Given the description of an element on the screen output the (x, y) to click on. 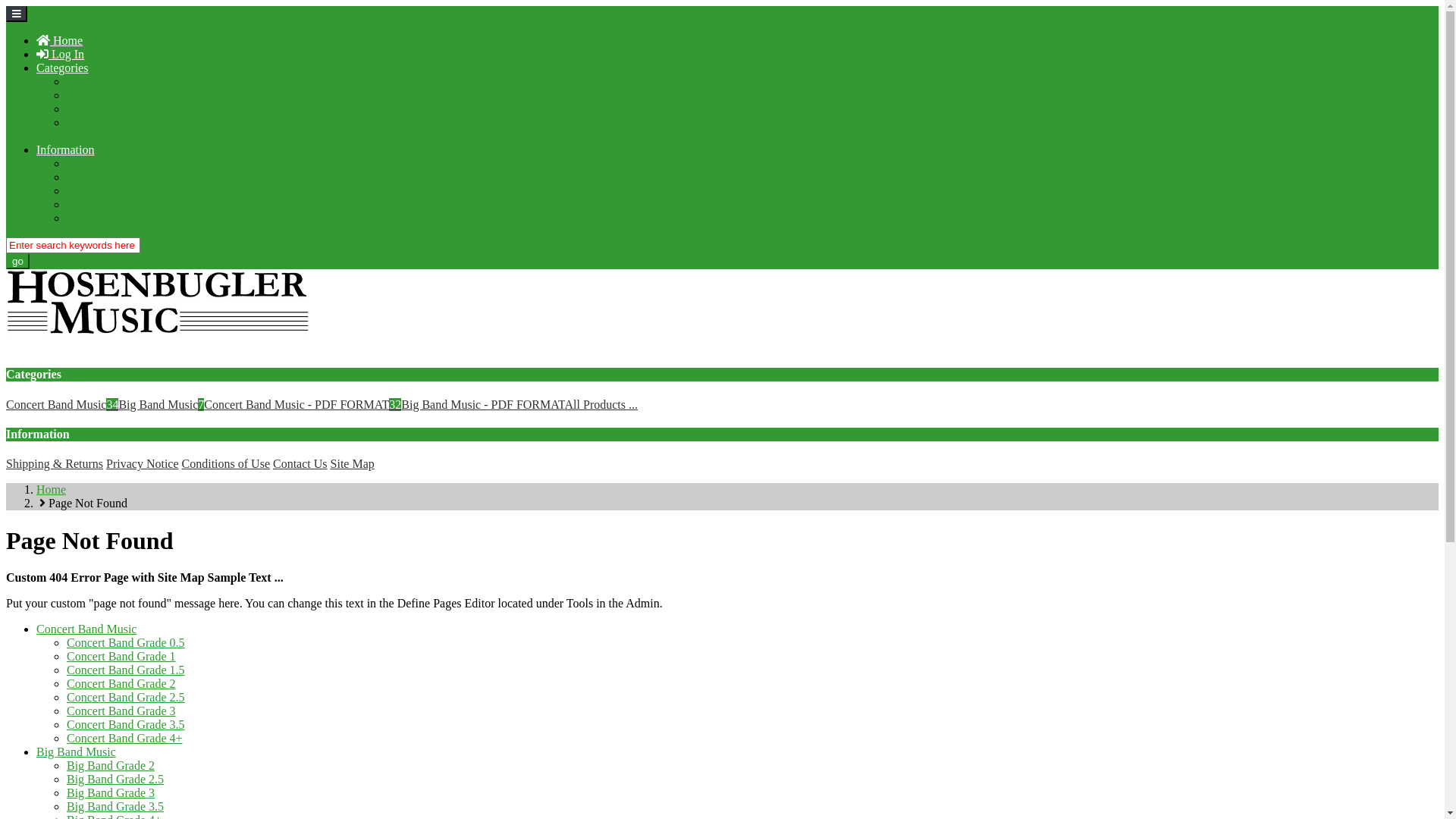
Privacy Notice Element type: text (102, 176)
Concert Band Music34 Element type: text (62, 404)
Conditions of Use Element type: text (225, 463)
Big Band Music - PDF FORMAT Element type: text (148, 122)
Privacy Notice Element type: text (142, 463)
Big Band Grade 3 Element type: text (110, 792)
Big Band Grade 2 Element type: text (110, 765)
Big Band Music Element type: text (106, 94)
Contact Us Element type: text (93, 203)
Home Element type: text (59, 40)
Shipping & Returns Element type: text (54, 463)
Site Map Element type: text (88, 217)
Shipping & Returns Element type: text (114, 162)
Big Band Music - PDF FORMAT Element type: text (482, 404)
Concert Band Grade 1 Element type: text (120, 655)
Concert Band Music Element type: text (86, 628)
Concert Band Grade 1.5 Element type: text (125, 669)
Concert Band Grade 3 Element type: text (120, 710)
Contact Us Element type: text (300, 463)
Information Element type: text (65, 149)
All Products ... Element type: text (600, 404)
Home Element type: text (50, 489)
Big Band Grade 2.5 Element type: text (114, 778)
Conditions of Use Element type: text (110, 190)
Concert Band Grade 2.5 Element type: text (125, 696)
Big Band Music Element type: text (76, 751)
go Element type: text (17, 261)
Concert Band Grade 3.5 Element type: text (125, 724)
Concert Band Grade 0.5 Element type: text (125, 642)
Log In Element type: text (60, 53)
Concert Band Grade 4+ Element type: text (124, 737)
Concert Band Music - PDF FORMAT32 Element type: text (302, 404)
Hosenbugler Music Element type: hover (157, 302)
Concert Band Grade 2 Element type: text (120, 683)
Categories Element type: text (61, 67)
Big Band Grade 3.5 Element type: text (114, 806)
All Products ... Element type: text (72, 135)
Site Map Element type: text (352, 463)
Concert Band Music Element type: text (116, 81)
Concert Band Music - PDF FORMAT Element type: text (158, 108)
Big Band Music7 Element type: text (160, 404)
